Given the description of an element on the screen output the (x, y) to click on. 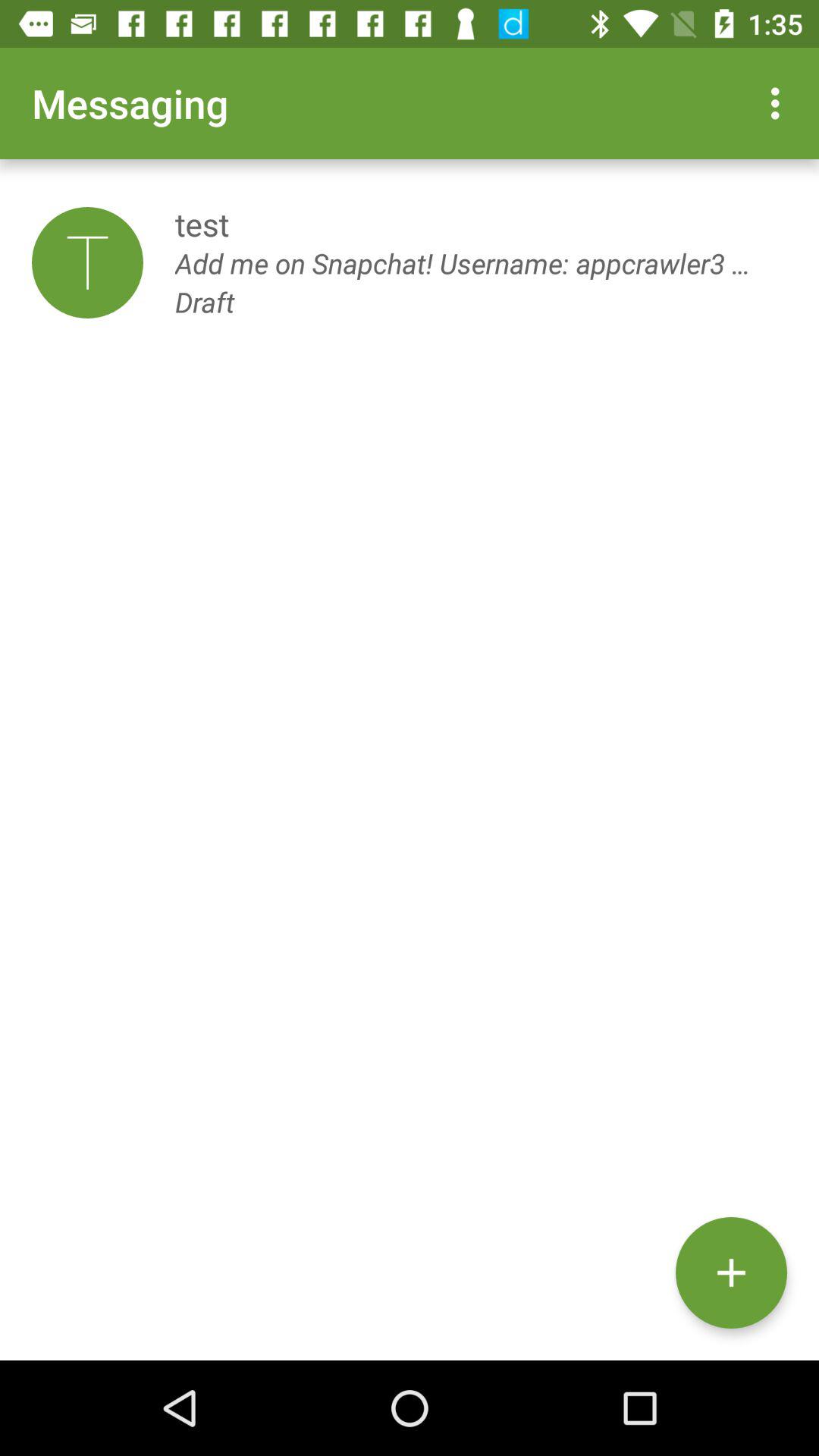
launch the icon below the add me on item (731, 1272)
